Given the description of an element on the screen output the (x, y) to click on. 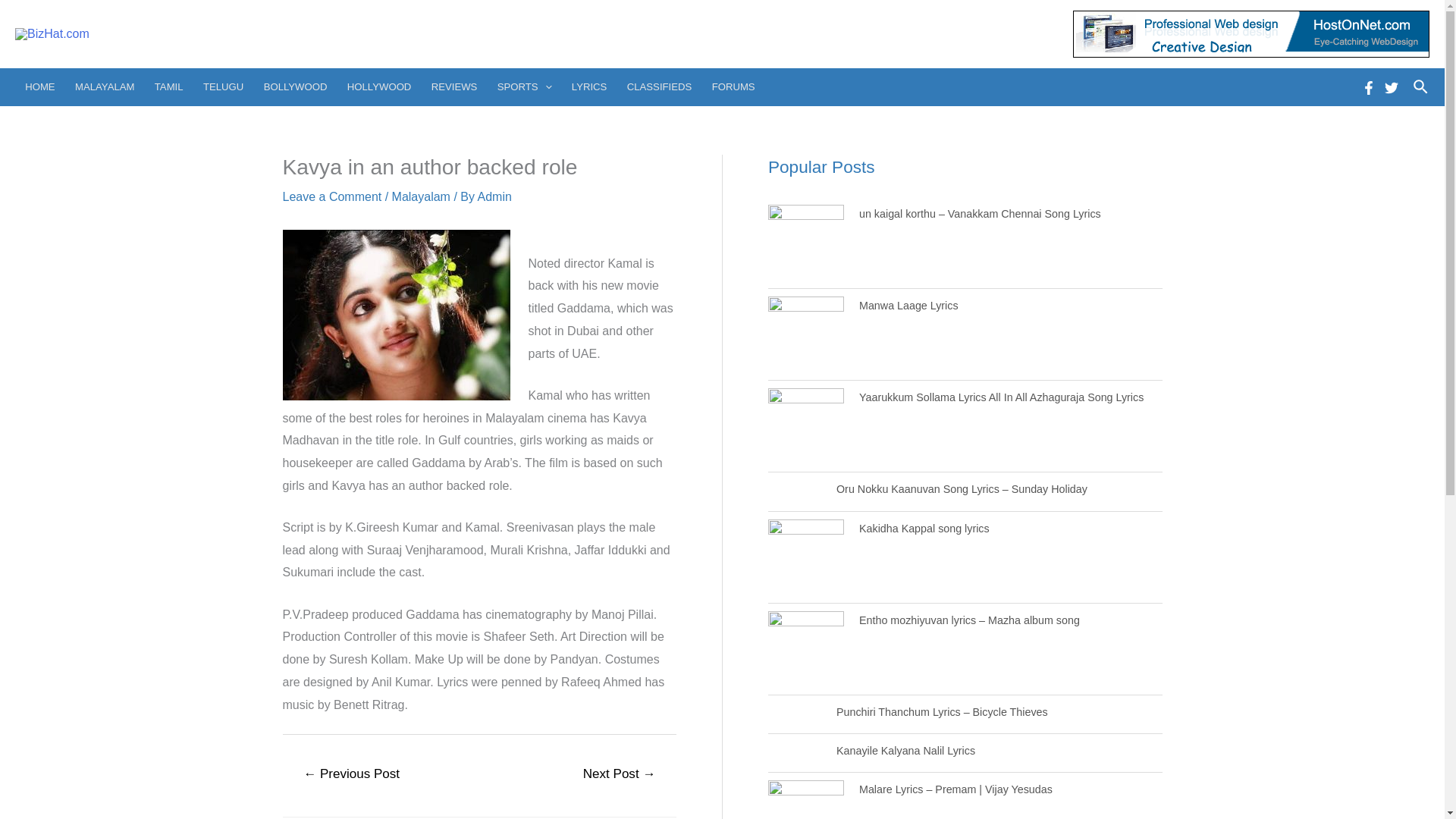
LYRICS (589, 86)
CLASSIFIEDS (659, 86)
TAMIL (168, 86)
View all posts by Admin (494, 196)
TELUGU (223, 86)
MALAYALAM (104, 86)
HOLLYWOOD (379, 86)
FORUMS (732, 86)
HOME (39, 86)
REVIEWS (454, 86)
SPORTS (524, 86)
BOLLYWOOD (294, 86)
